Given the description of an element on the screen output the (x, y) to click on. 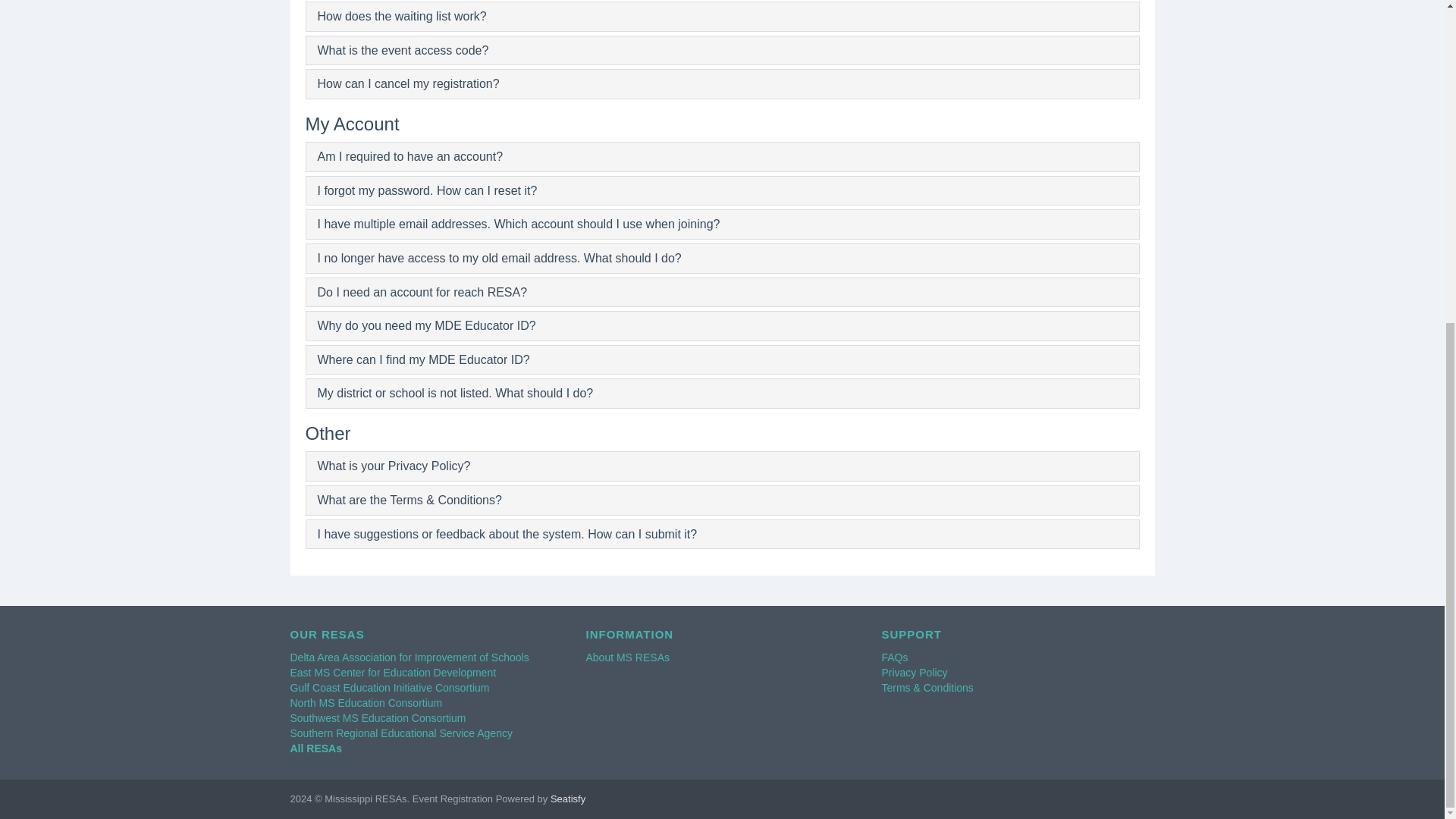
What is the event access code? (402, 50)
How does the waiting list work? (401, 15)
